Given the description of an element on the screen output the (x, y) to click on. 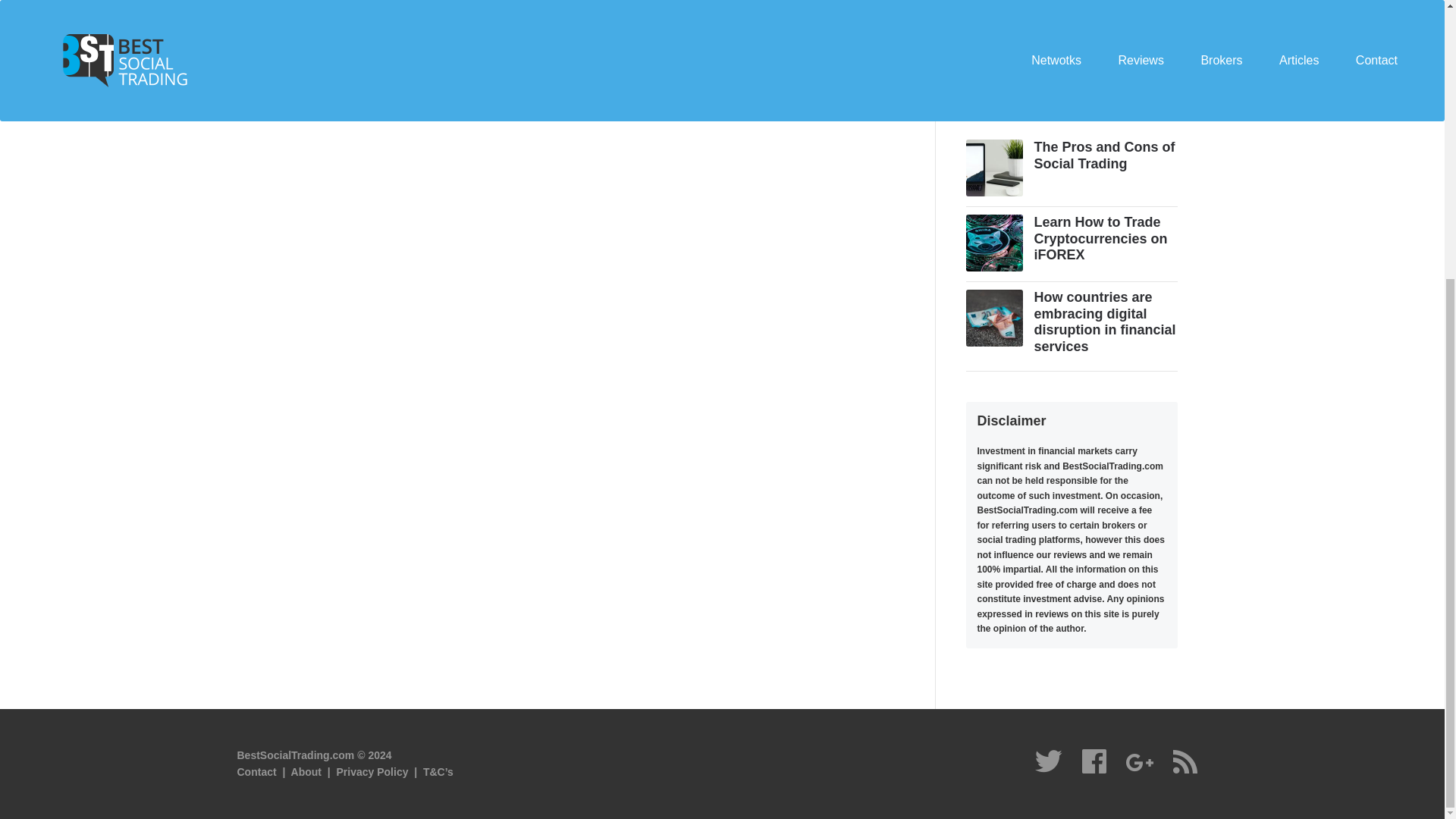
Contact (255, 771)
Learn How to Trade Cryptocurrencies on iFOREX (1100, 238)
FIND US ON FACEBOOK (1066, 29)
The Pros and Cons of Social Trading (1103, 155)
Privacy Policy (372, 771)
About (306, 771)
